Given the description of an element on the screen output the (x, y) to click on. 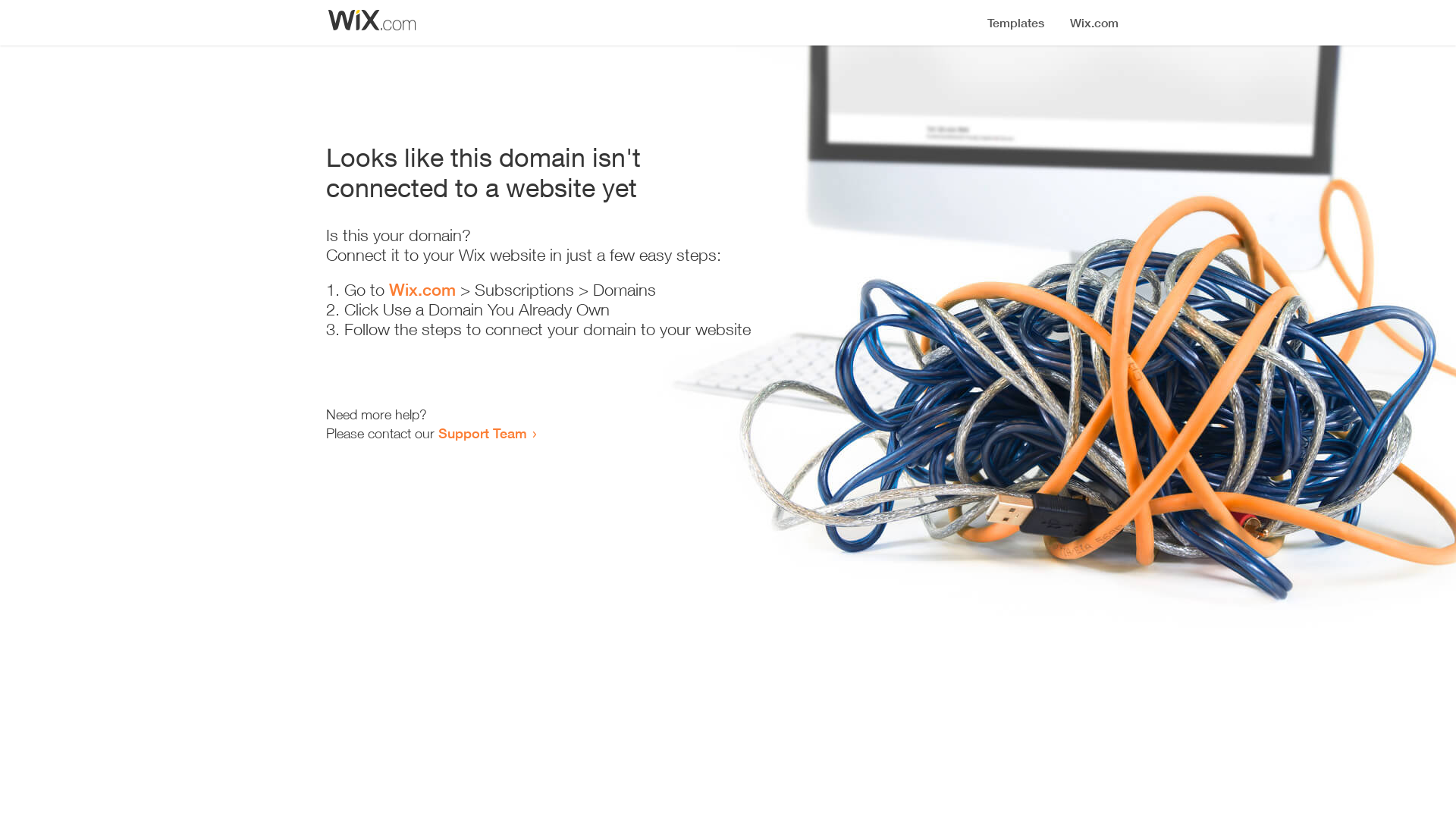
Support Team Element type: text (482, 432)
Wix.com Element type: text (422, 289)
